Given the description of an element on the screen output the (x, y) to click on. 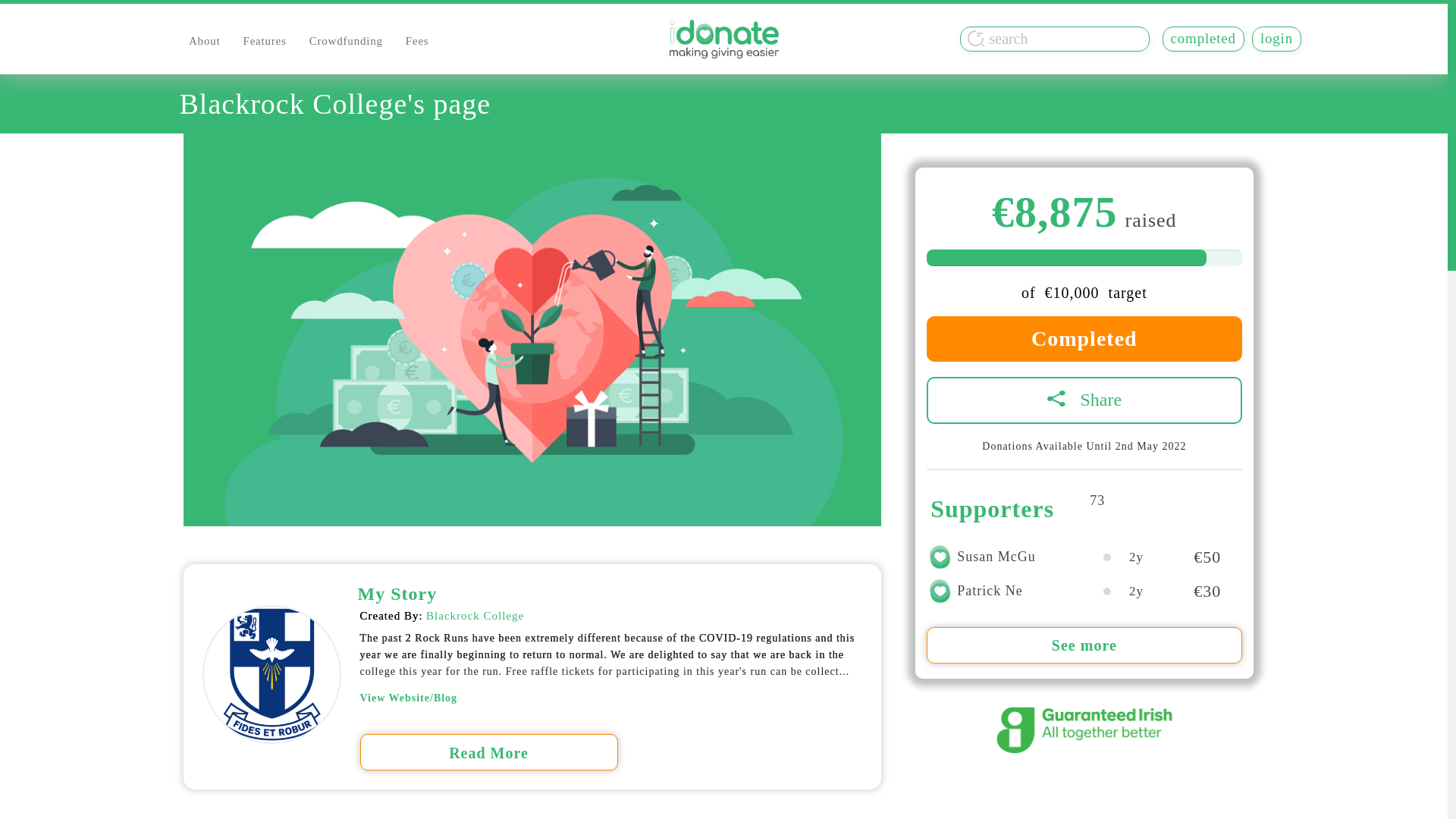
About (204, 38)
